Given the description of an element on the screen output the (x, y) to click on. 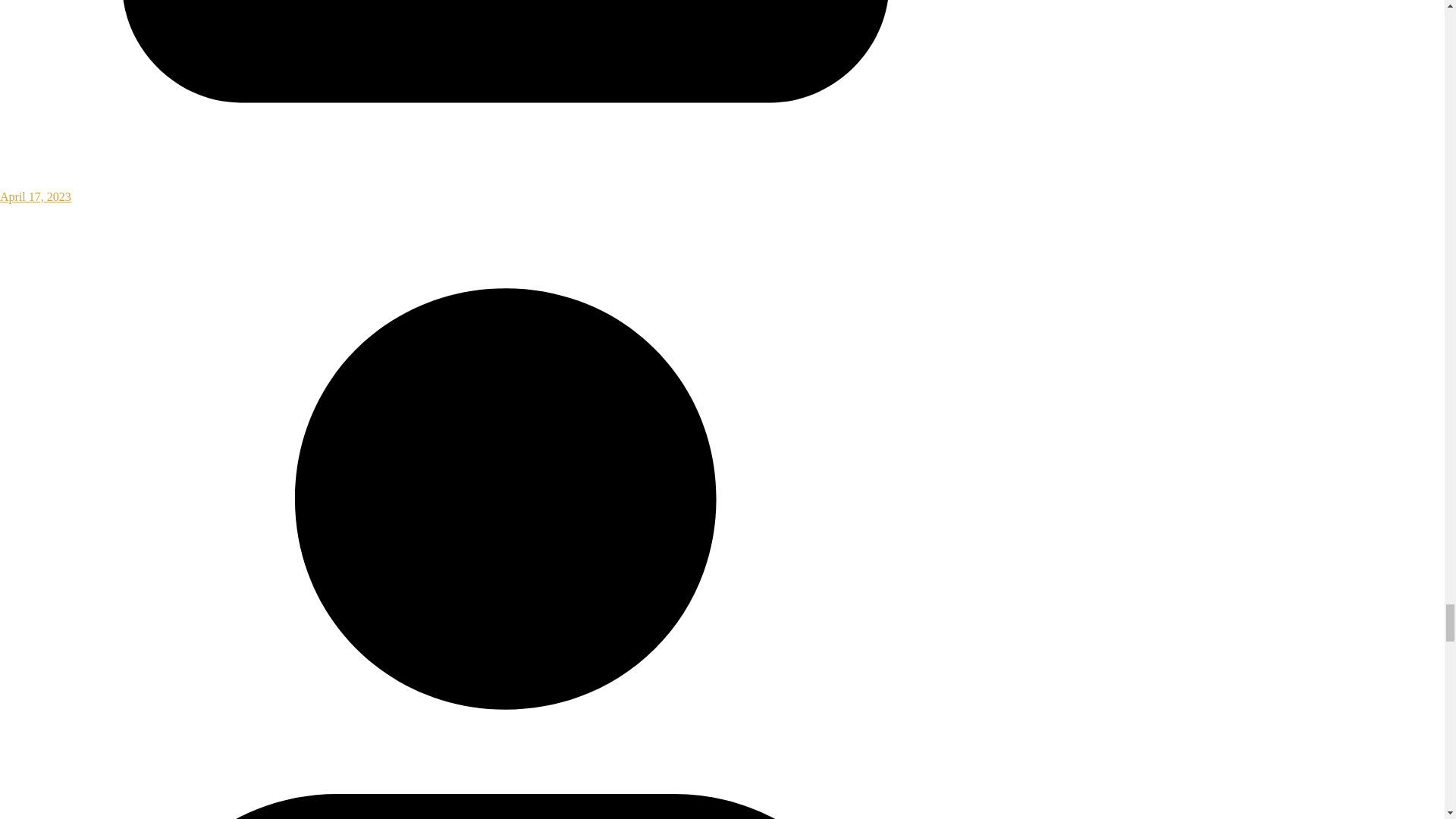
April 17, 2023 (505, 189)
11:41 am (505, 189)
